Given the description of an element on the screen output the (x, y) to click on. 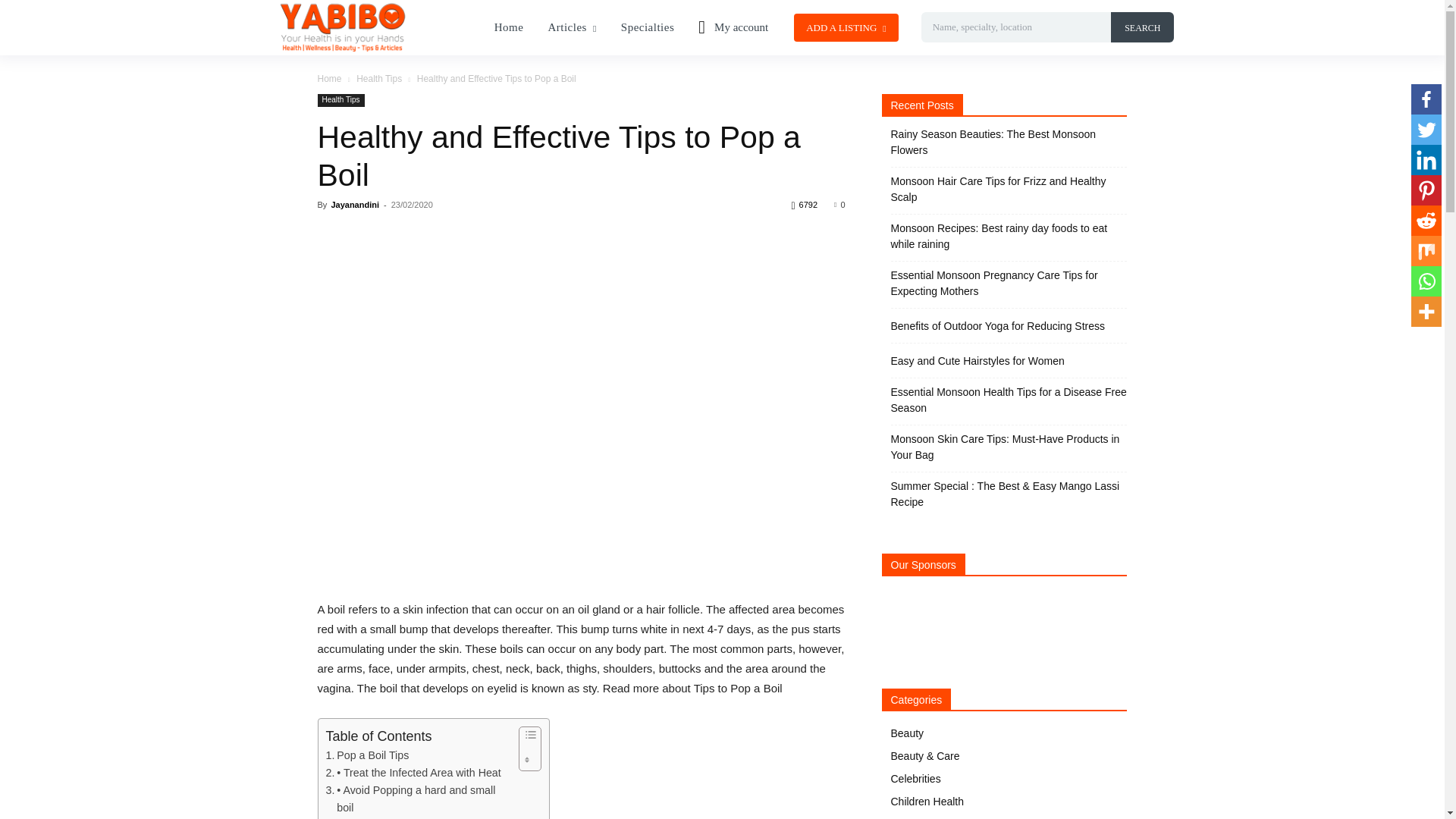
Add a listing (845, 27)
Articles (571, 27)
Pop a Boil Tips (367, 755)
Home (508, 27)
View all posts in Health Tips (378, 78)
